Given the description of an element on the screen output the (x, y) to click on. 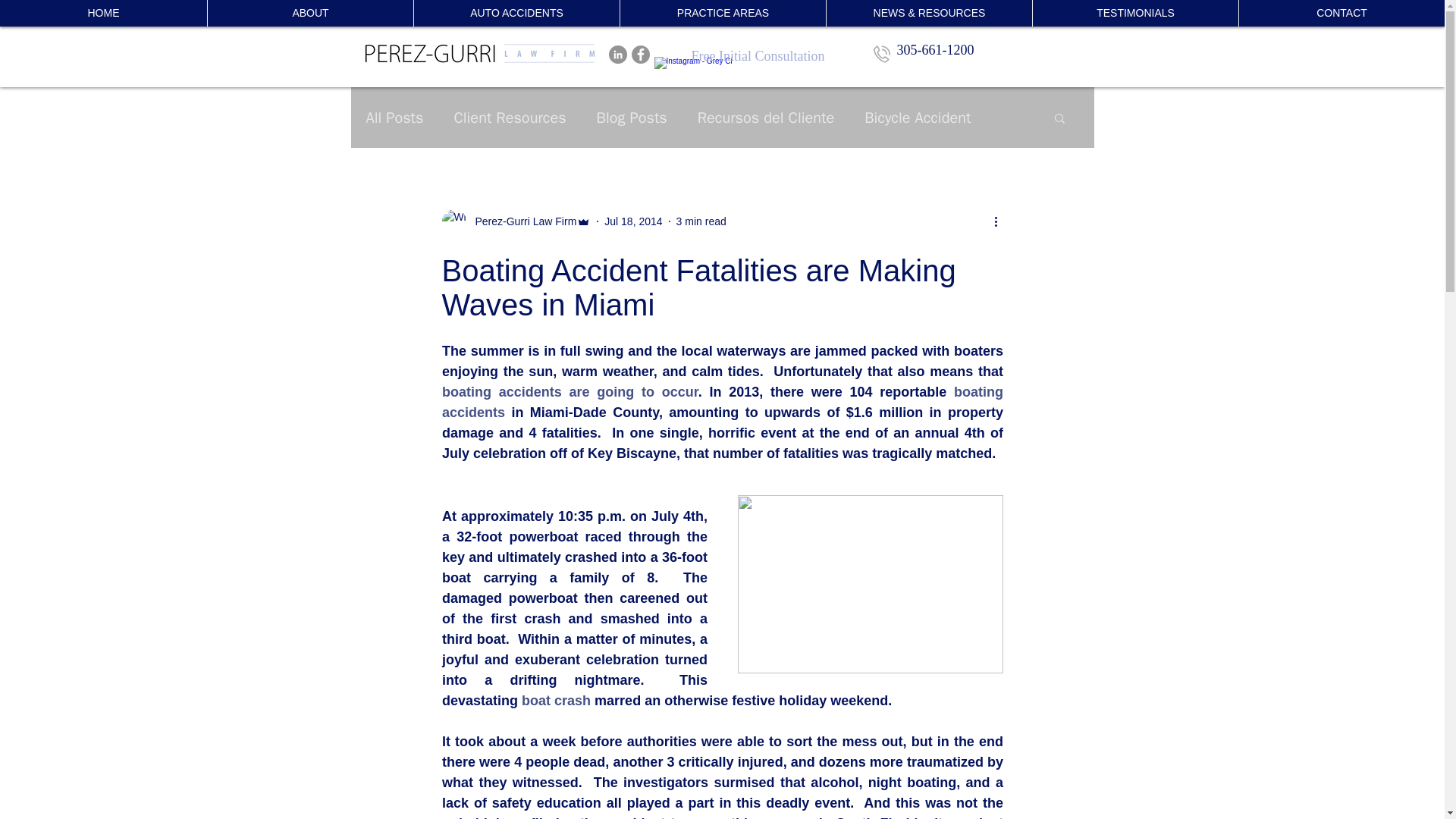
Bicycle Accident (917, 117)
Client Resources (509, 117)
All Posts (394, 117)
PRACTICE AREAS (722, 13)
Blog Posts (631, 117)
Perez-Gurri Law Firm (520, 221)
AUTO ACCIDENTS (516, 13)
TESTIMONIALS (1135, 13)
Recursos del Cliente (765, 117)
HOME (103, 13)
Jul 18, 2014 (633, 221)
3 min read (701, 221)
ABOUT (309, 13)
